Given the description of an element on the screen output the (x, y) to click on. 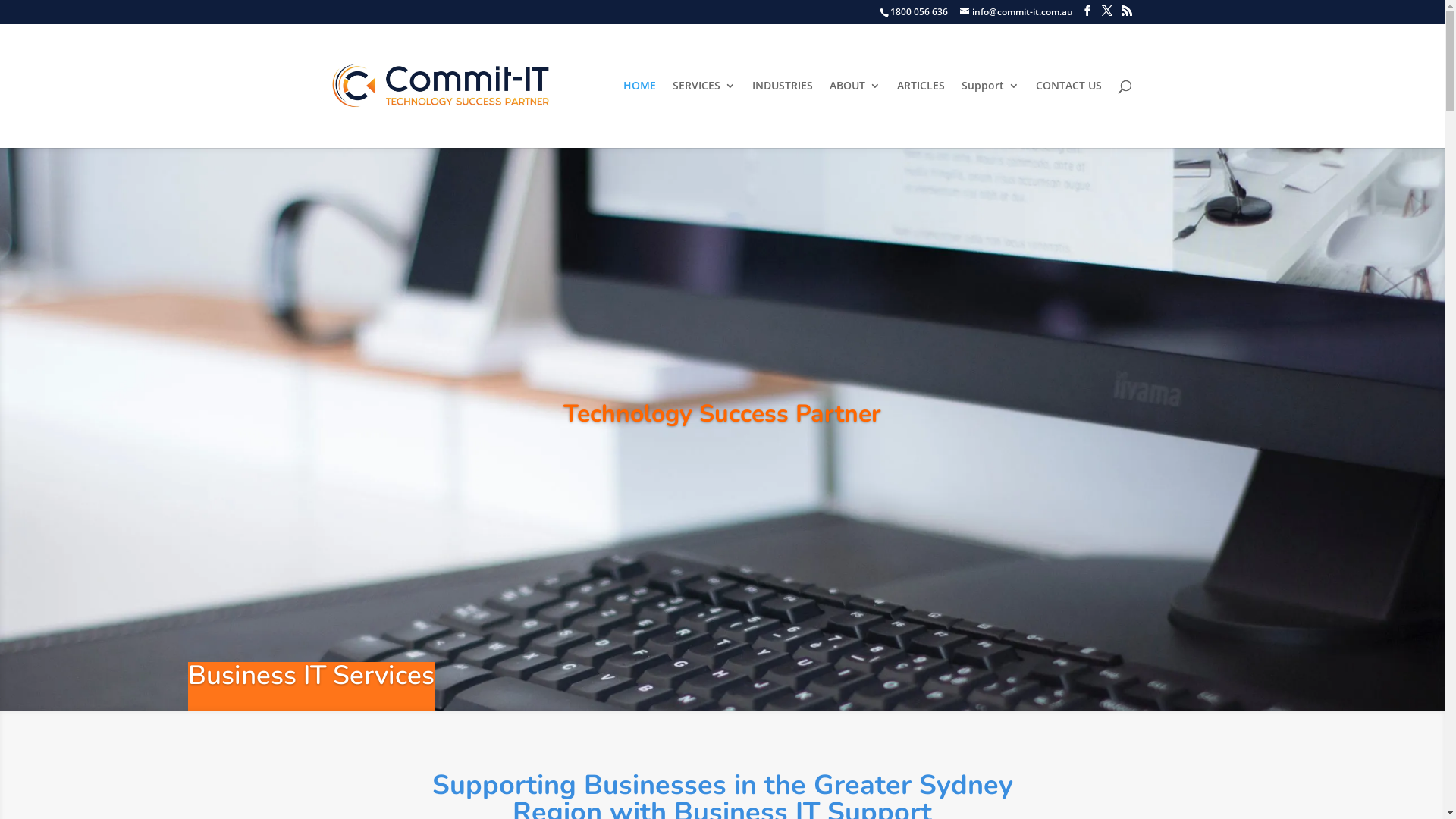
CONTACT US Element type: text (1068, 113)
HOME Element type: text (639, 113)
ARTICLES Element type: text (920, 113)
INDUSTRIES Element type: text (782, 113)
ABOUT Element type: text (854, 113)
SERVICES Element type: text (702, 113)
info@commit-it.com.au Element type: text (1016, 11)
Support Element type: text (990, 113)
